Given the description of an element on the screen output the (x, y) to click on. 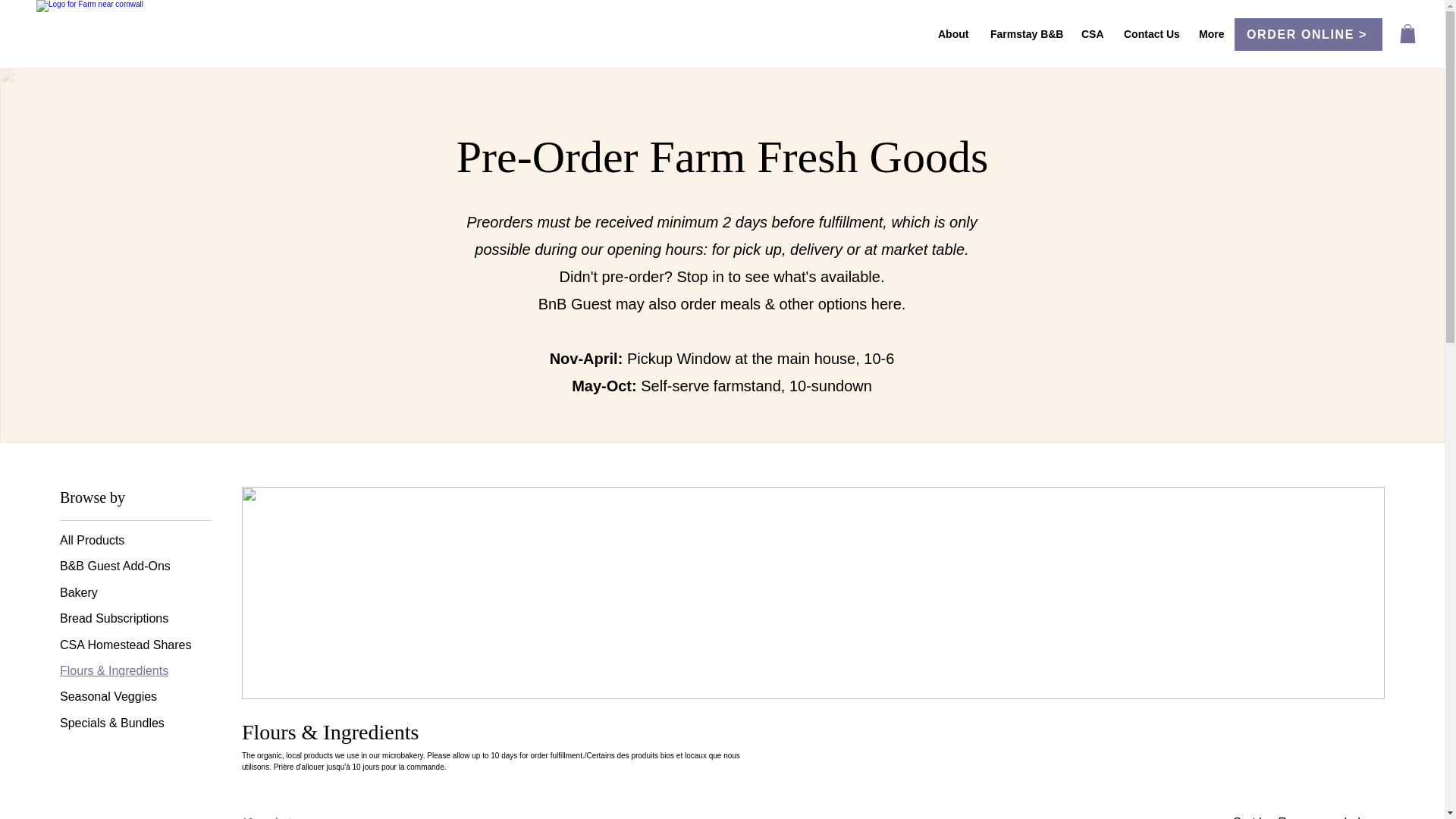
Bakery (78, 592)
Bread Subscriptions (113, 618)
Contact Us (1150, 34)
CSA (1091, 34)
About (952, 34)
All Products (91, 540)
CSA Homestead Shares (124, 645)
Seasonal Veggies (108, 696)
